Given the description of an element on the screen output the (x, y) to click on. 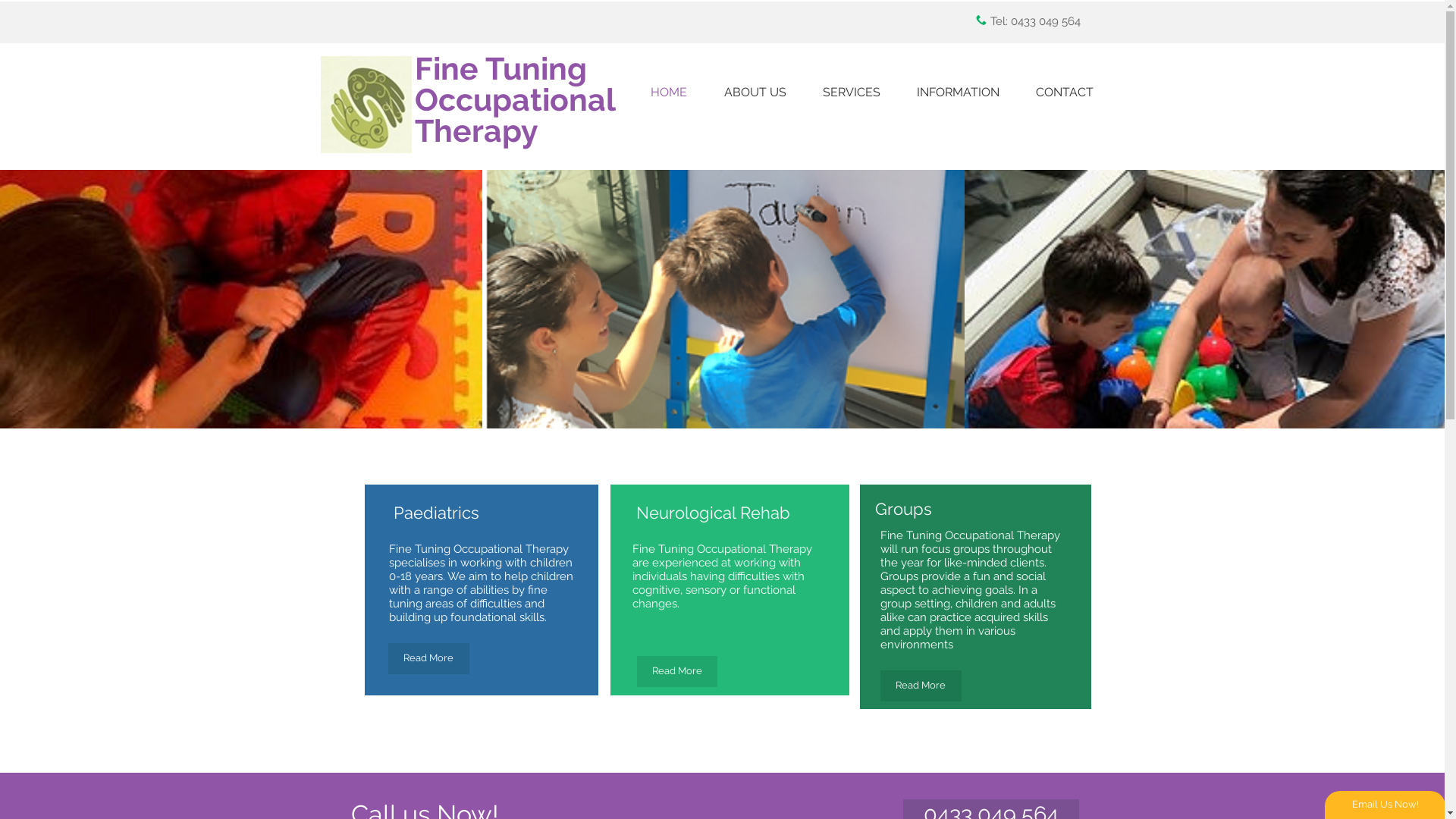
Read More Element type: text (677, 671)
INFORMATION Element type: text (956, 92)
Fine Tuning Occupational Therapy Element type: text (514, 99)
Read More Element type: text (428, 658)
CONTACT Element type: text (1064, 92)
SERVICES Element type: text (850, 92)
HOME Element type: text (669, 92)
Read More Element type: text (919, 685)
ABOUT US Element type: text (754, 92)
